Given the description of an element on the screen output the (x, y) to click on. 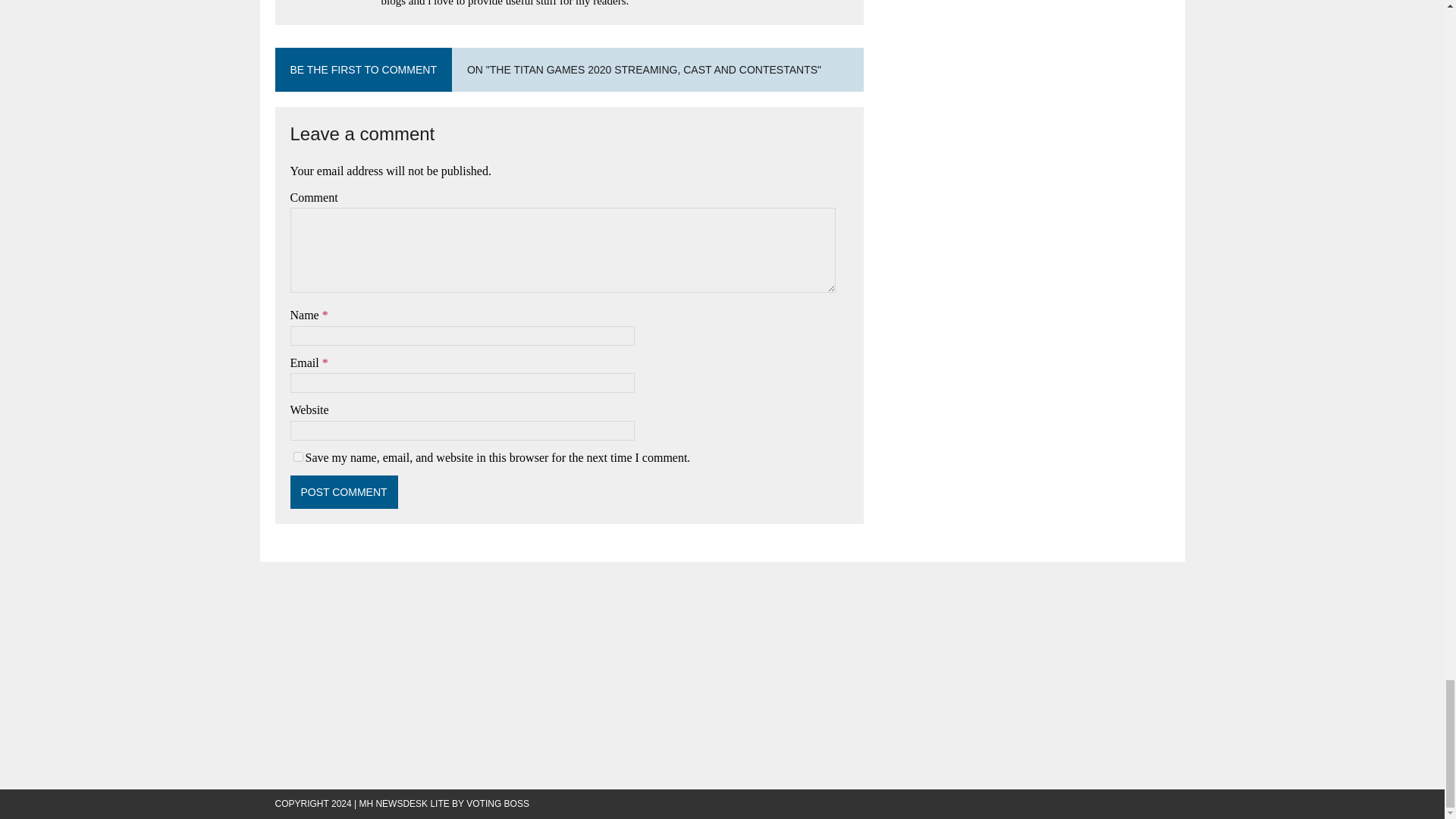
Post Comment (343, 491)
yes (297, 456)
